Given the description of an element on the screen output the (x, y) to click on. 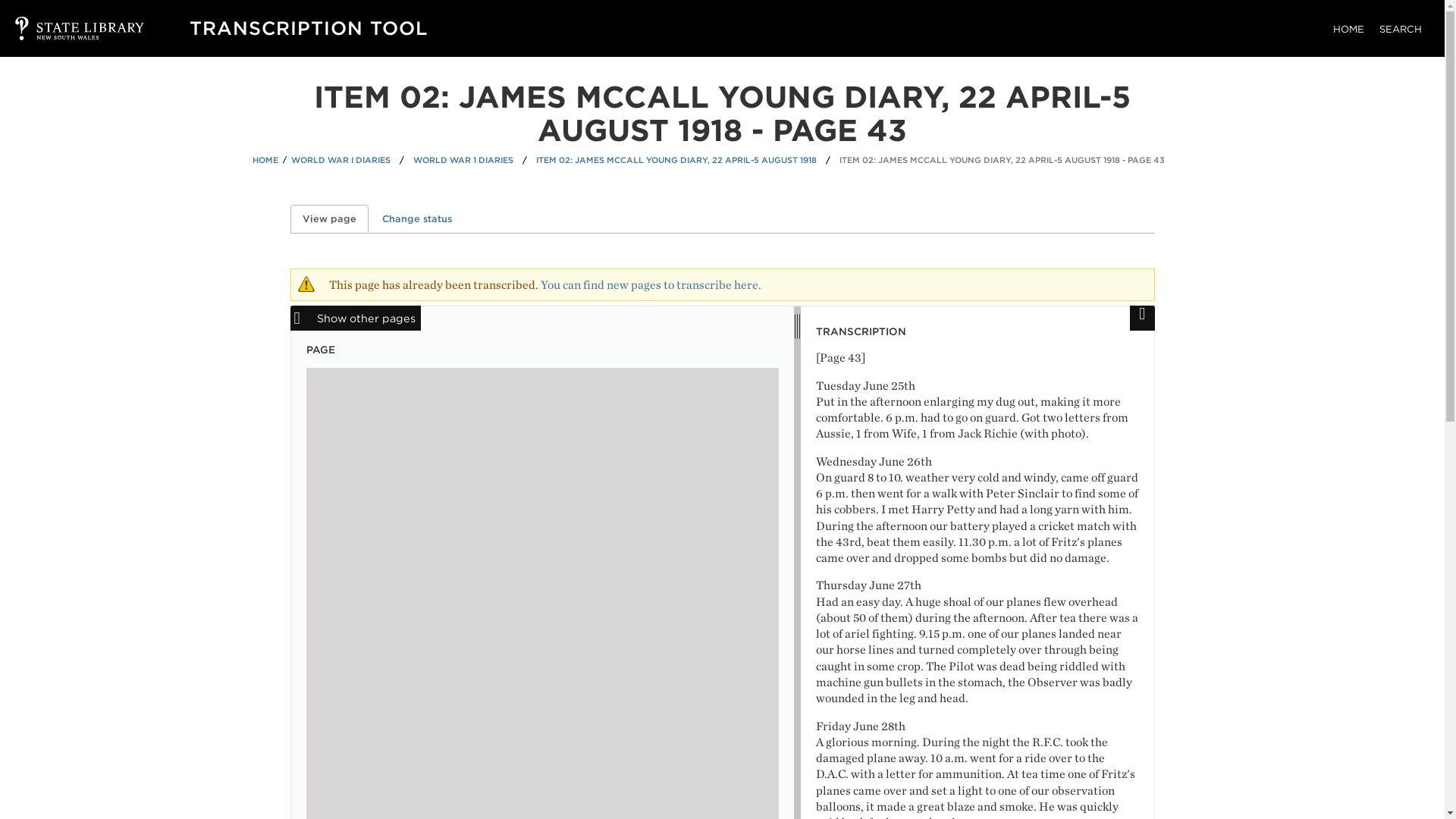
TRANSCRIPTION TOOL (308, 27)
HOME (264, 160)
ITEM 02: JAMES MCCALL YOUNG DIARY, 22 APRIL-5 AUGUST 1918 (675, 160)
WORLD WAR I DIARIES (340, 160)
SEARCH (1400, 29)
Change status (416, 218)
WORLD WAR 1 DIARIES (463, 160)
HOME (1348, 29)
State Library of NSW (64, 28)
Home (308, 27)
You can find new pages to transcribe here. (650, 284)
